Given the description of an element on the screen output the (x, y) to click on. 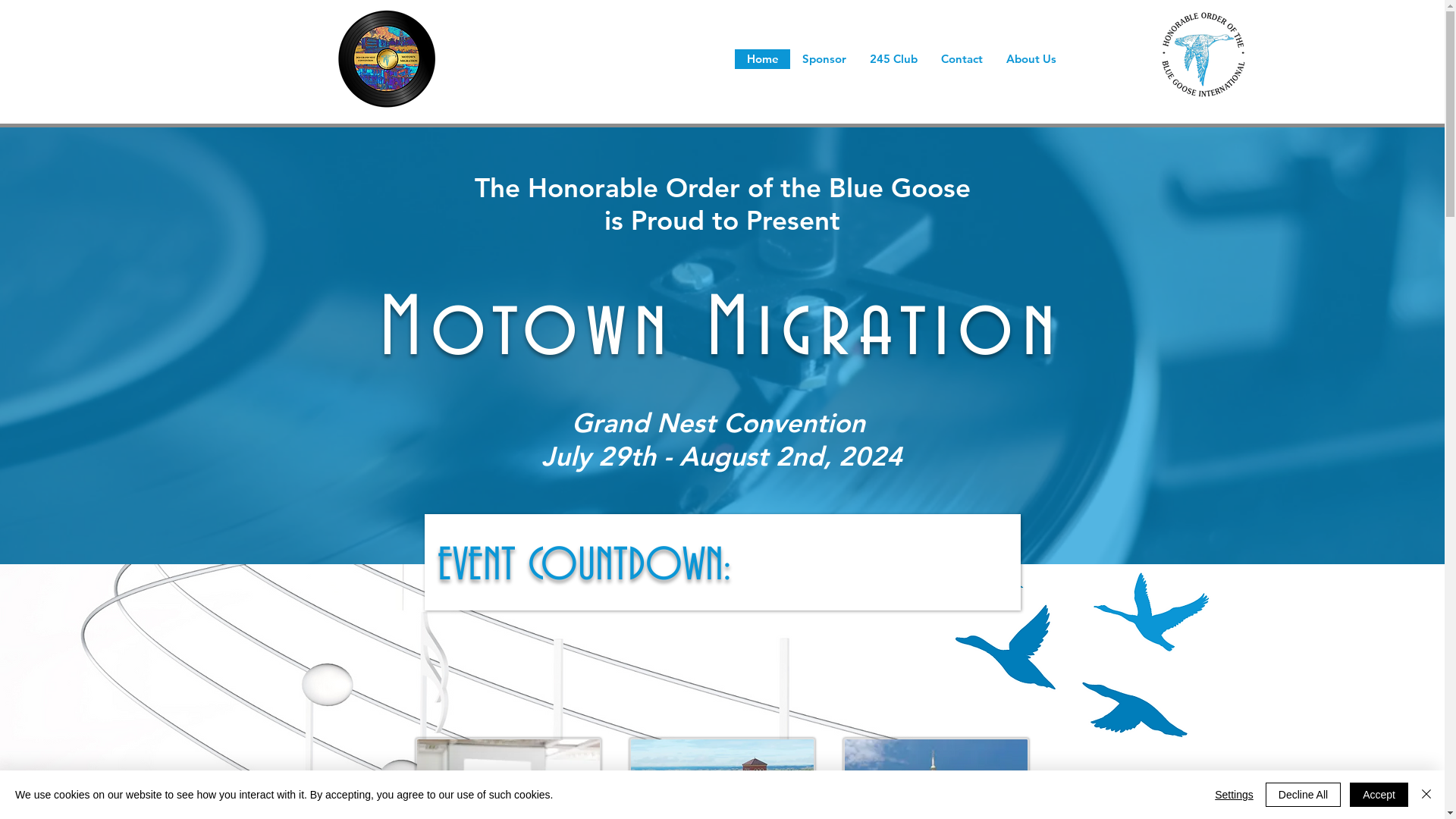
Home Element type: text (762, 59)
Accept Element type: text (1378, 794)
Sponsor Element type: text (823, 59)
Decline All Element type: text (1302, 794)
245 Club Element type: text (892, 59)
About Us Element type: text (1030, 59)
Contact Element type: text (961, 59)
